Given the description of an element on the screen output the (x, y) to click on. 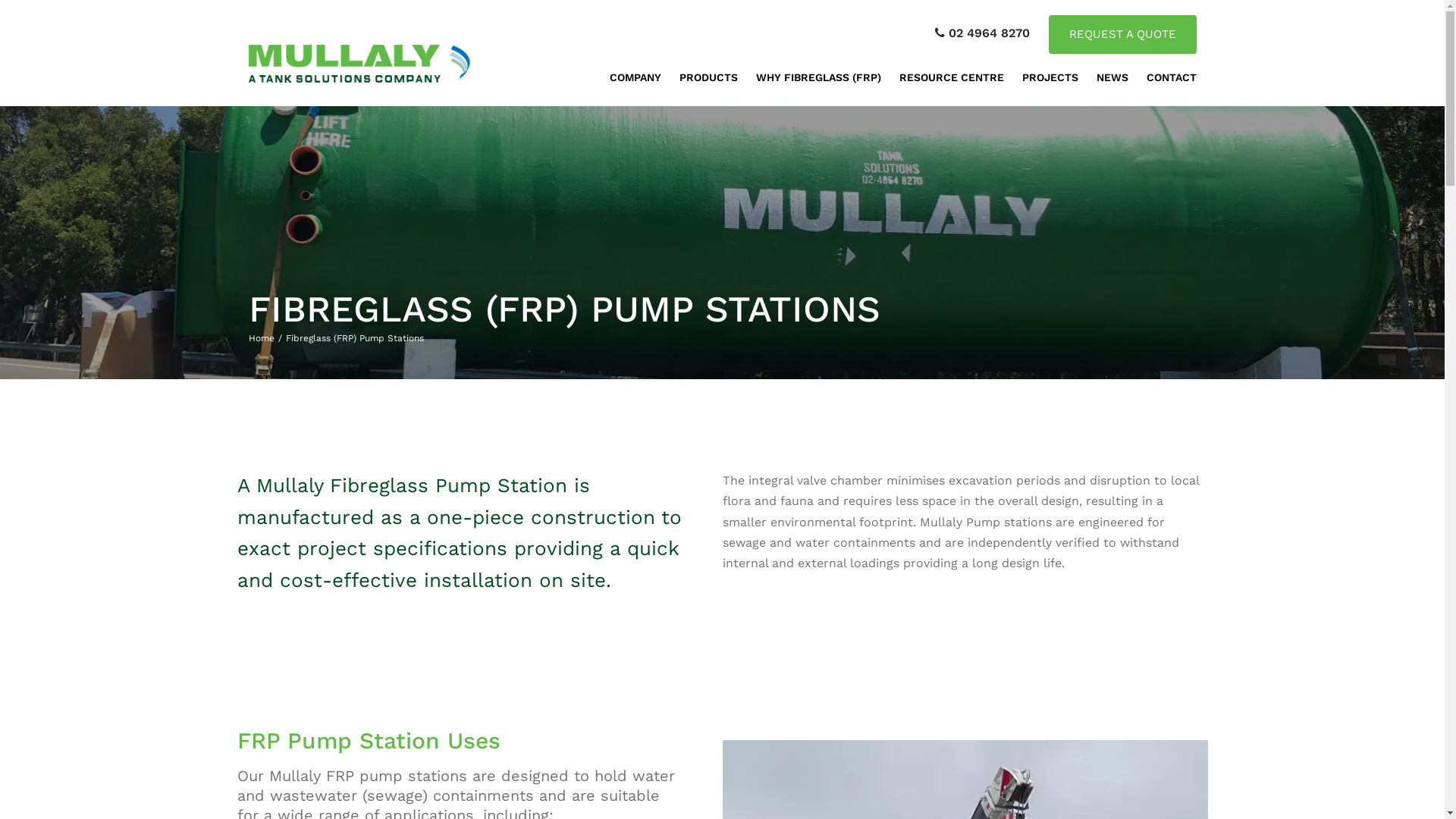
COMPANY Element type: text (635, 76)
REQUEST A QUOTE Element type: text (1121, 34)
NEWS Element type: text (1111, 76)
PROJECTS Element type: text (1049, 76)
02 4964 8270 Element type: text (981, 33)
PRODUCTS Element type: text (708, 76)
RESOURCE CENTRE Element type: text (951, 76)
CONTACT Element type: text (1171, 76)
WHY FIBREGLASS (FRP) Element type: text (817, 76)
Home Element type: text (266, 337)
